Given the description of an element on the screen output the (x, y) to click on. 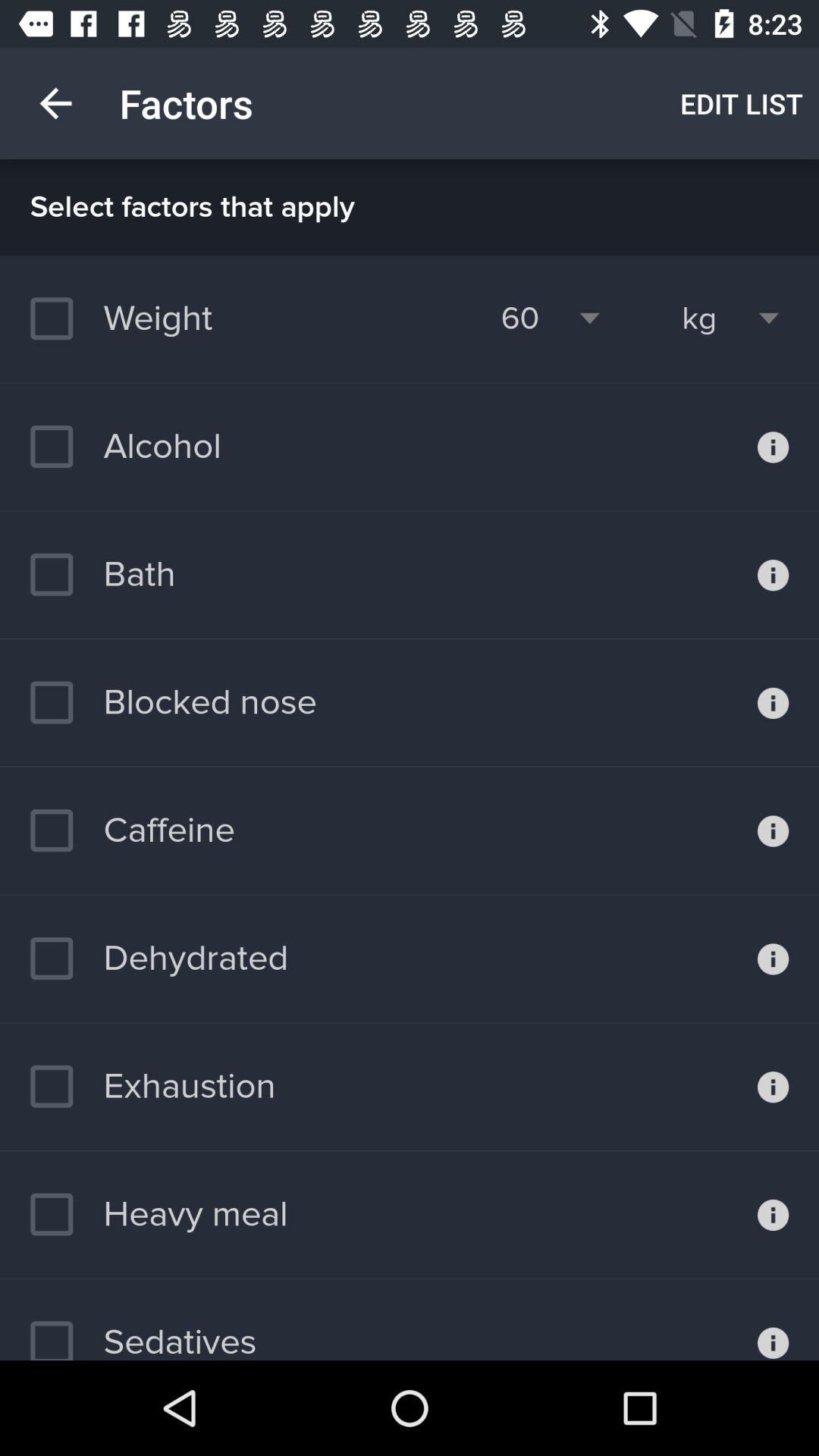
info (773, 1214)
